Given the description of an element on the screen output the (x, y) to click on. 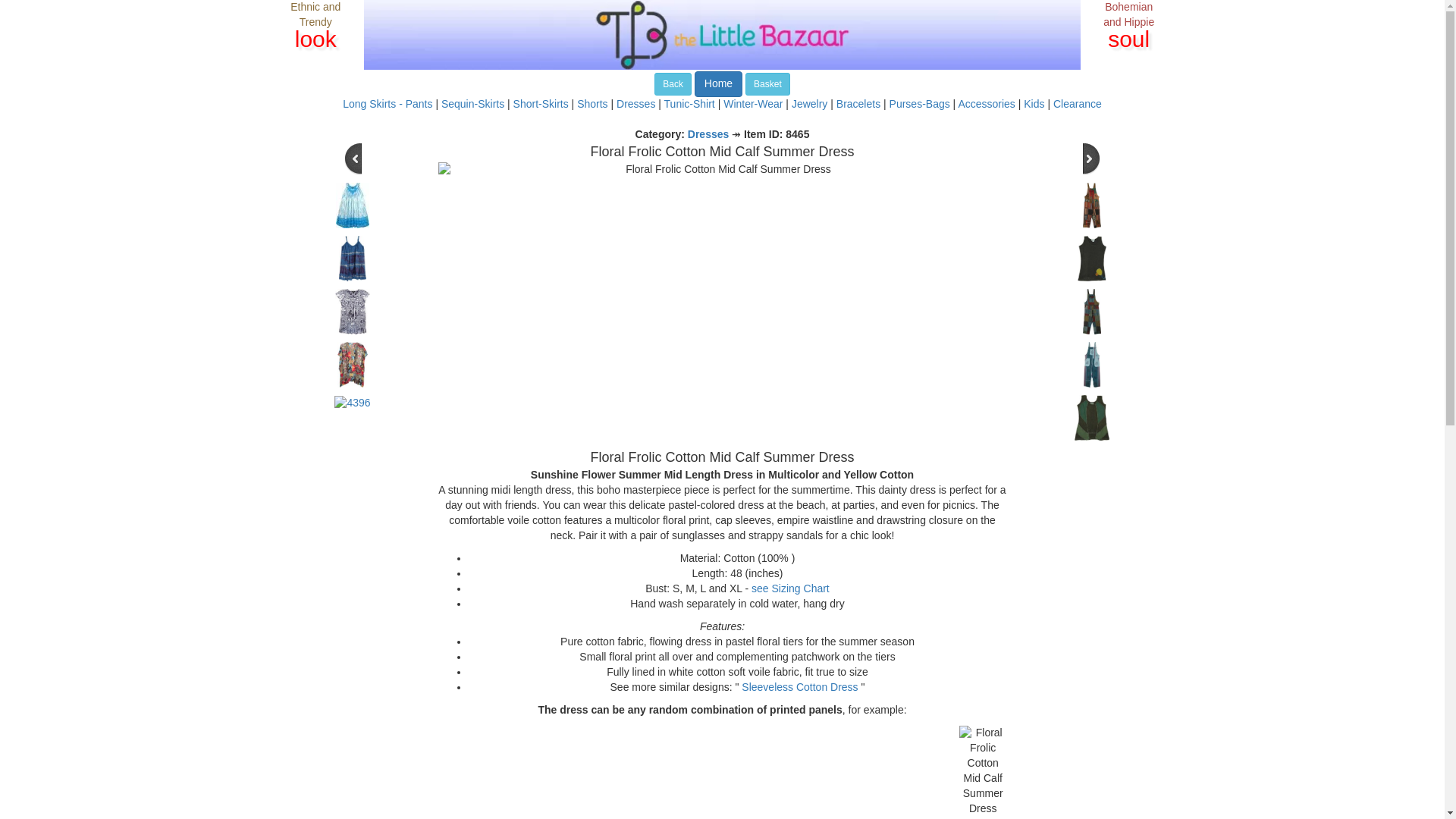
Back (672, 83)
Jewelry (809, 103)
Sequin-Skirts (472, 103)
Accessories (986, 103)
Winter-Wear (753, 103)
Kids (1033, 103)
Sleeveless Cotton Dress (799, 686)
Short-Skirts (541, 103)
Shorts (591, 103)
Dresses (635, 103)
